Given the description of an element on the screen output the (x, y) to click on. 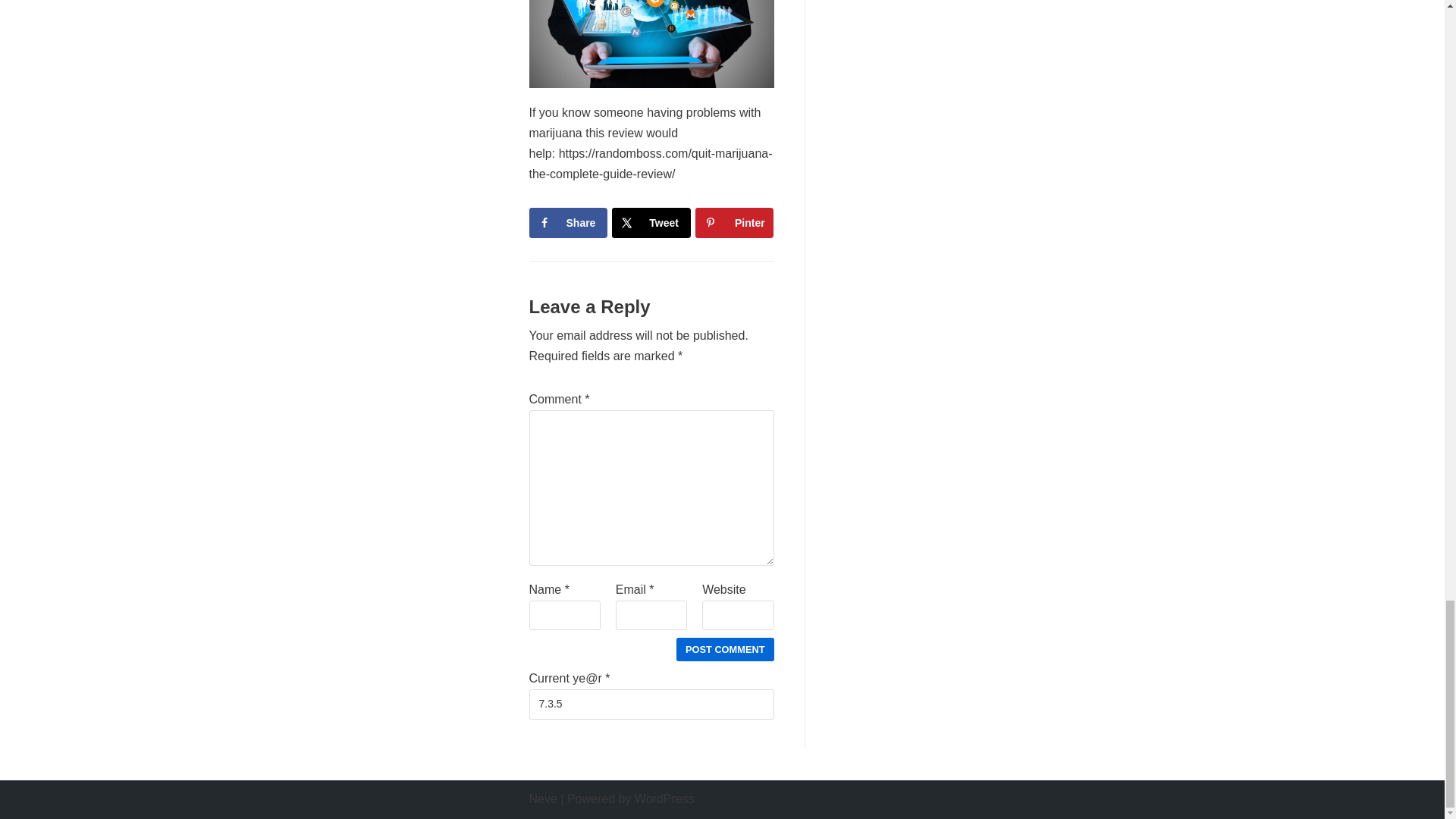
Save to Pinterest (734, 223)
WordPress (664, 798)
Share (568, 223)
7.3.5 (651, 704)
Post Comment (725, 649)
Pinterest (734, 223)
Tweet (650, 223)
Neve (543, 798)
Post Comment (725, 649)
Share on Facebook (568, 223)
Share on X (650, 223)
